Given the description of an element on the screen output the (x, y) to click on. 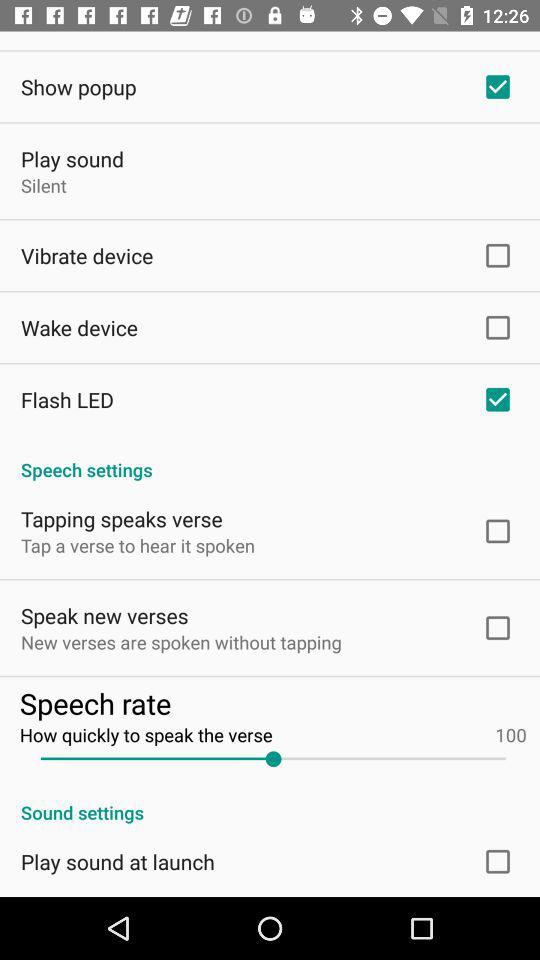
open icon below the vibrate device (79, 327)
